Given the description of an element on the screen output the (x, y) to click on. 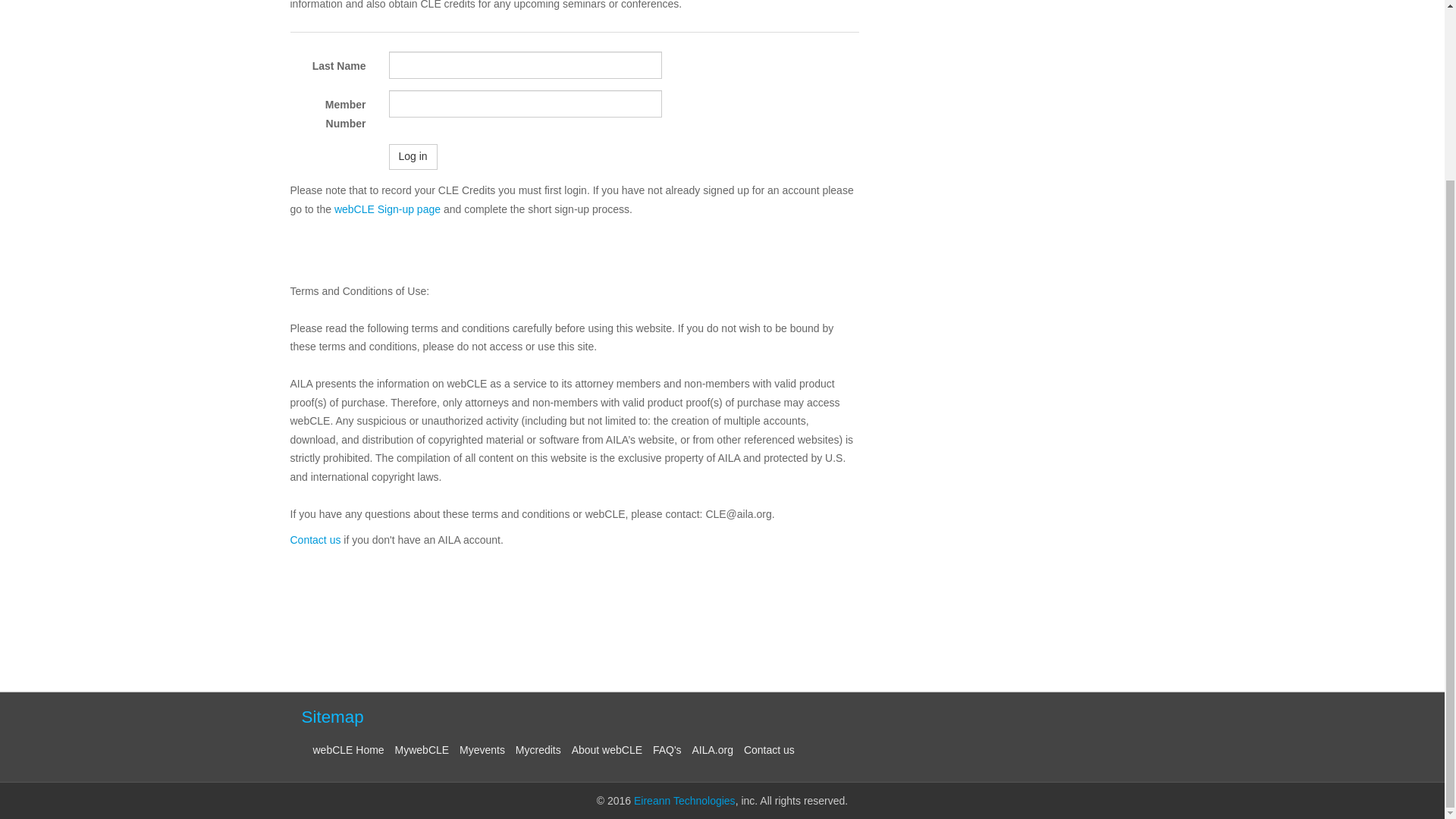
Mycredits (537, 749)
Log in (412, 156)
webCLE Sign-up page (387, 209)
webCLE Home (348, 749)
FAQ's (666, 749)
Log in (412, 156)
Myevents (482, 749)
Eireann Technologies (684, 800)
AILA.org (713, 749)
MywebCLE (421, 749)
Contact us (314, 539)
About webCLE (607, 749)
Contact us (769, 749)
